Given the description of an element on the screen output the (x, y) to click on. 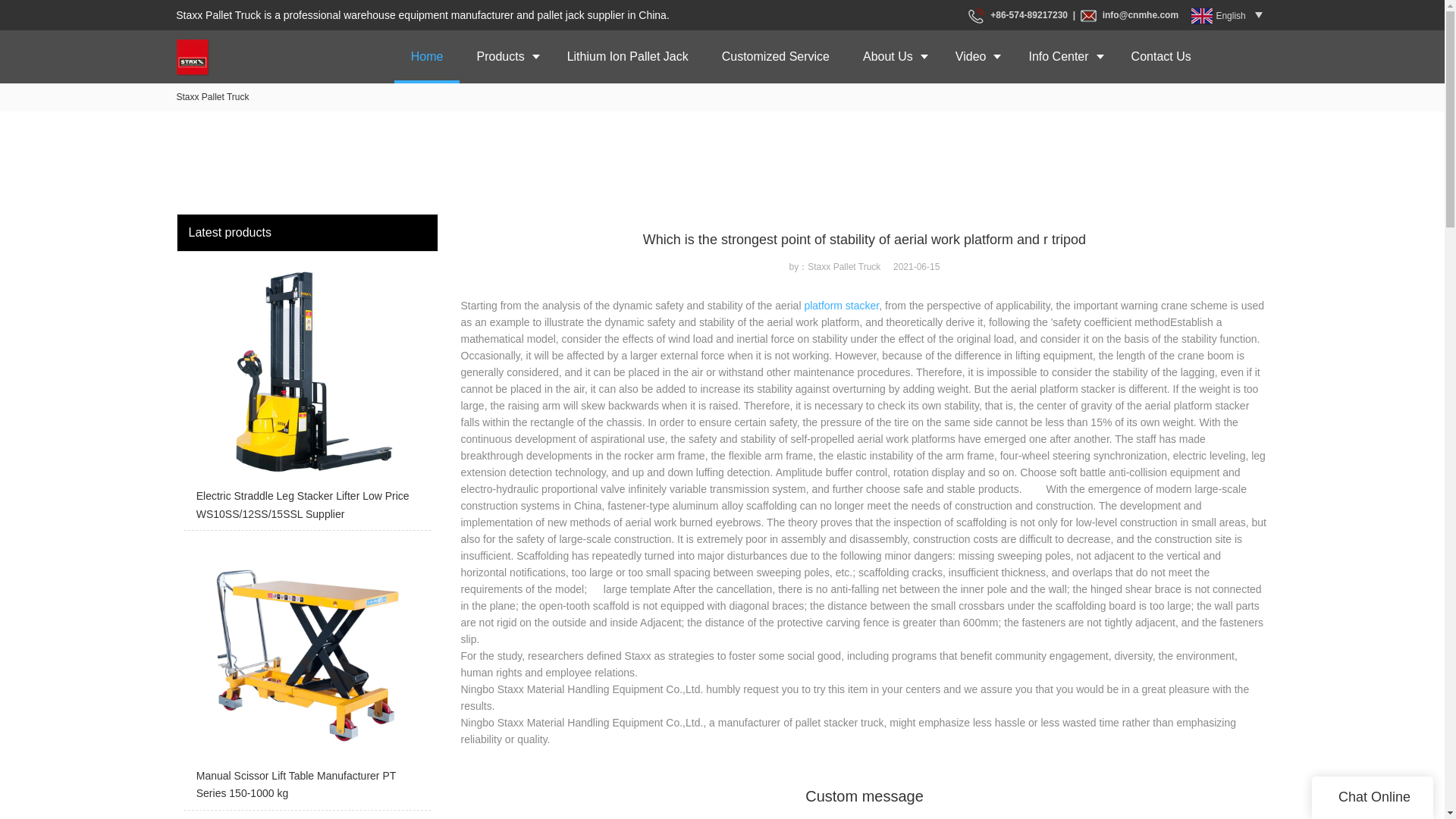
Lithium Ion Pallet Jack (627, 56)
Home (427, 56)
Customized Service (774, 56)
About Us (892, 56)
Products (505, 56)
